Given the description of an element on the screen output the (x, y) to click on. 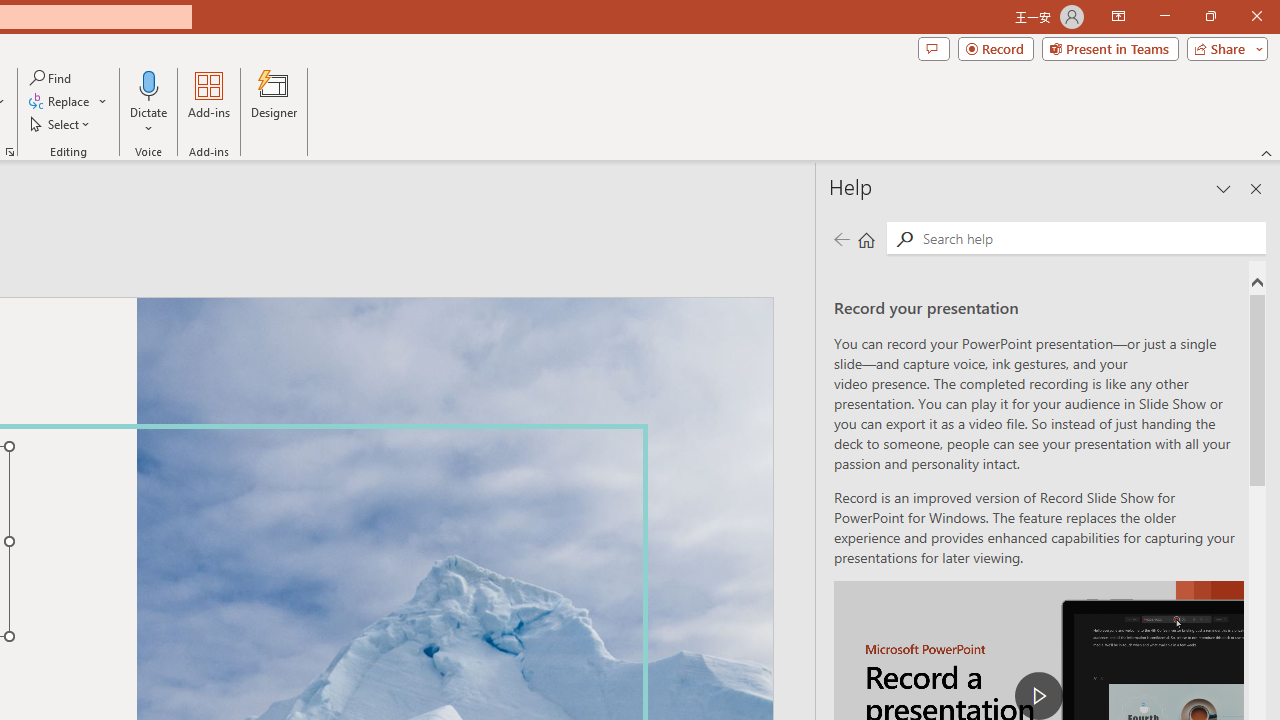
Comments (933, 48)
Minimize (1164, 16)
Format Object... (9, 151)
Previous page (841, 238)
Replace... (60, 101)
Ribbon Display Options (1118, 16)
Restore Down (1210, 16)
Close pane (1256, 188)
Share (1223, 48)
Find... (51, 78)
Search (1089, 237)
Designer (274, 102)
More Options (149, 121)
